Given the description of an element on the screen output the (x, y) to click on. 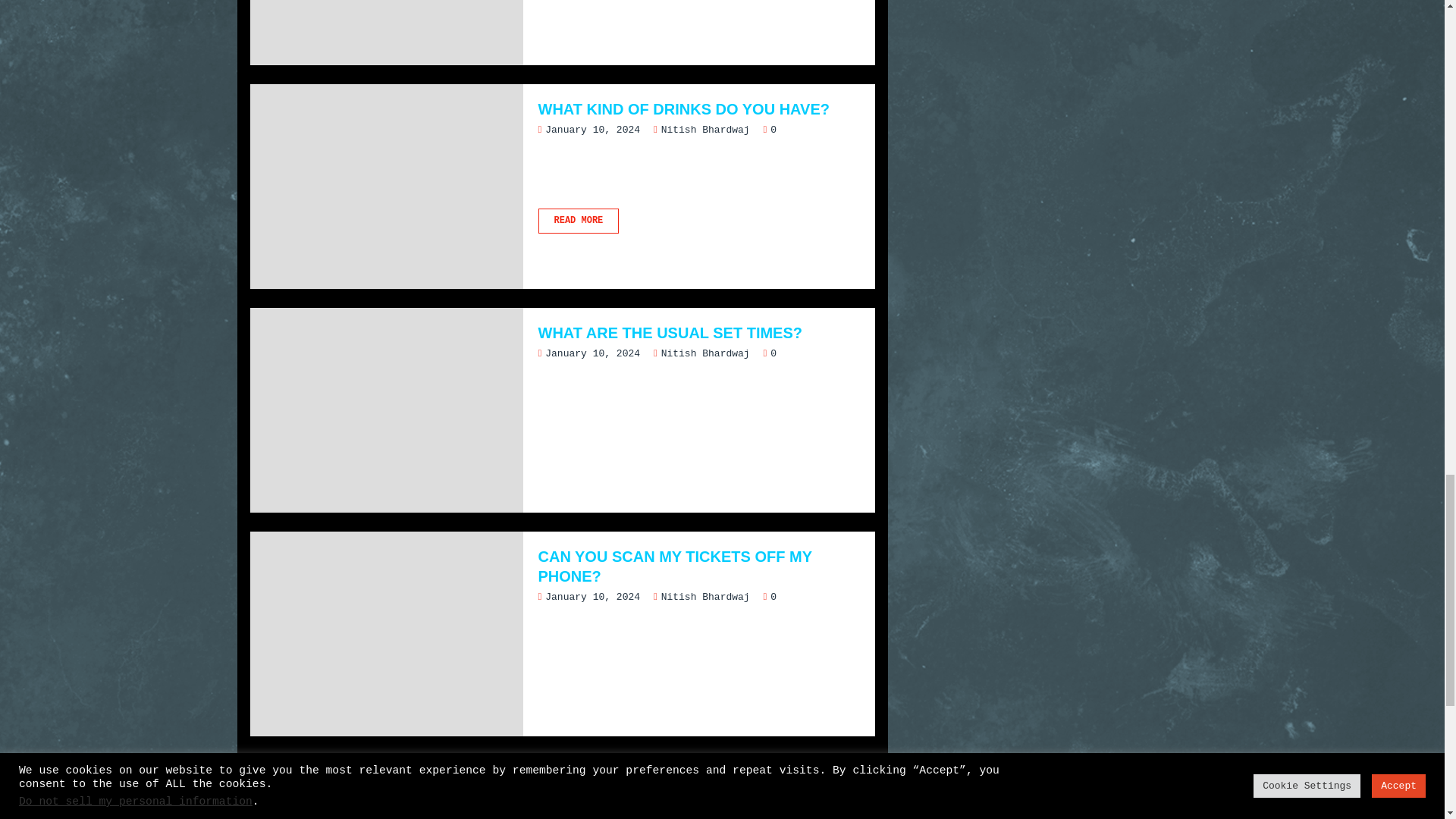
What kind of drinks do you have? (699, 220)
